Given the description of an element on the screen output the (x, y) to click on. 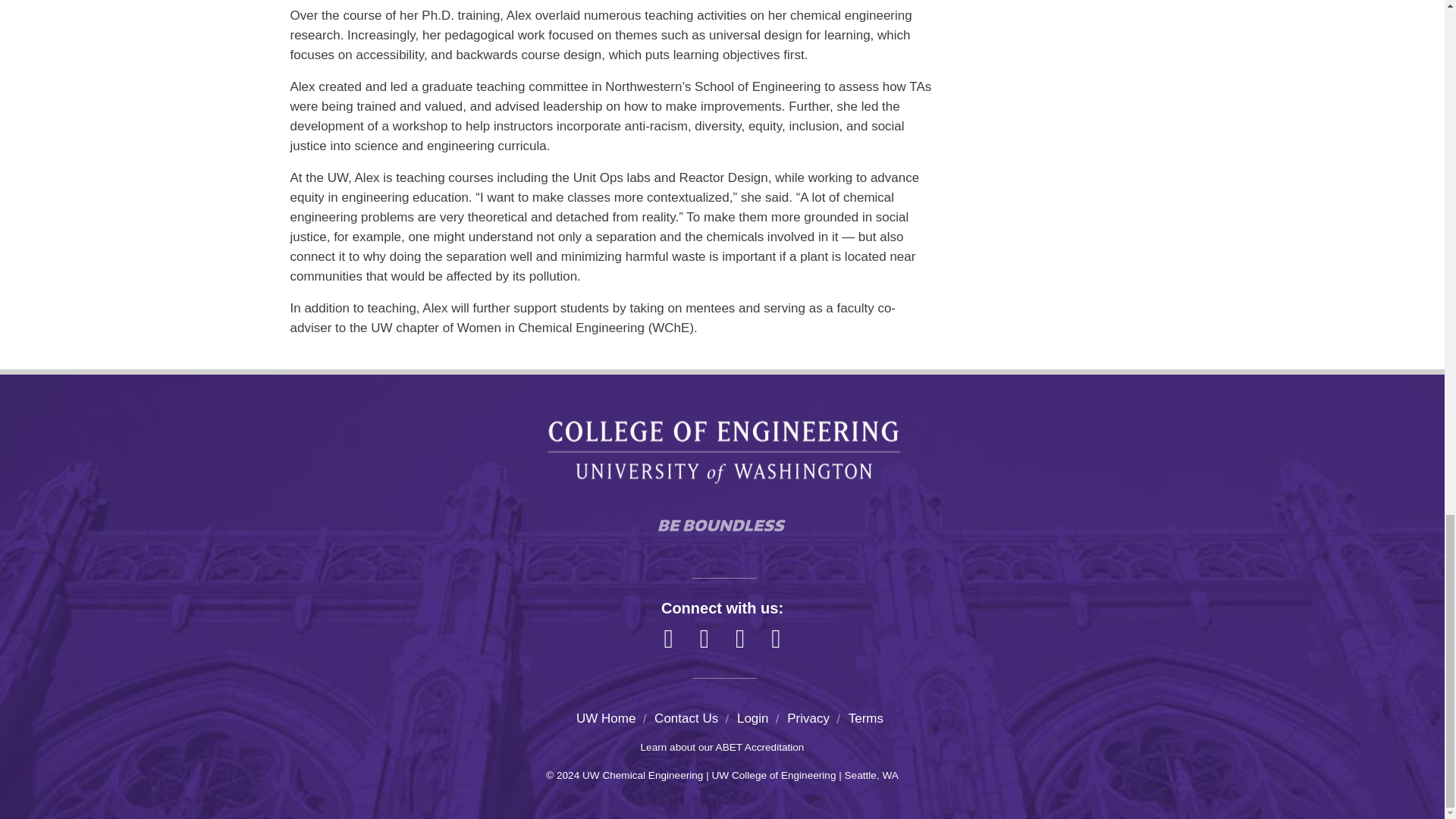
linkedin (704, 638)
instagram (668, 638)
youtube (776, 638)
twitter (740, 638)
